Given the description of an element on the screen output the (x, y) to click on. 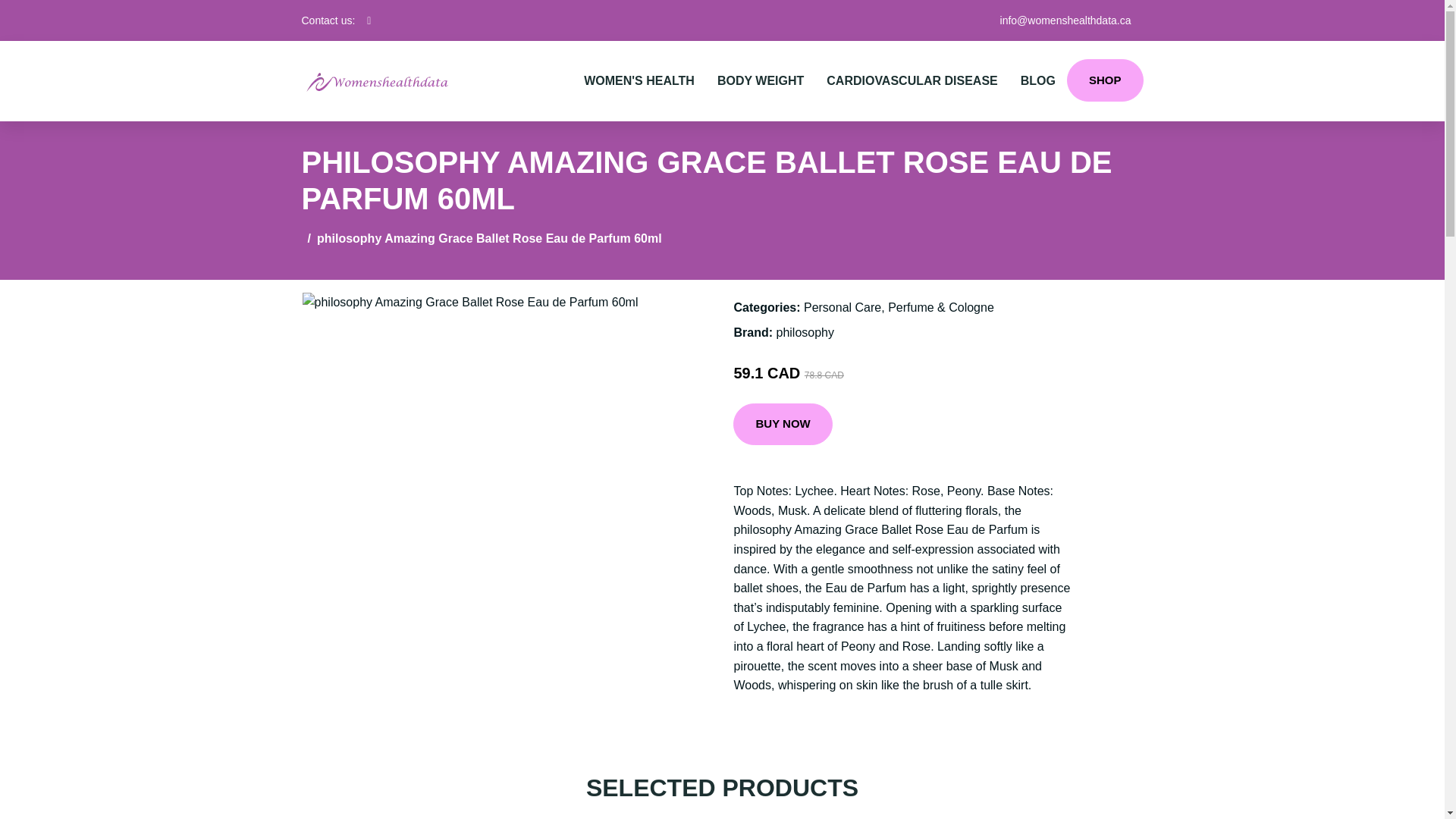
CARDIOVASCULAR DISEASE (912, 80)
BODY WEIGHT (760, 80)
BUY NOW (782, 424)
WOMEN'S HEALTH (639, 80)
SHOP (1104, 79)
Personal Care (841, 307)
